Given the description of an element on the screen output the (x, y) to click on. 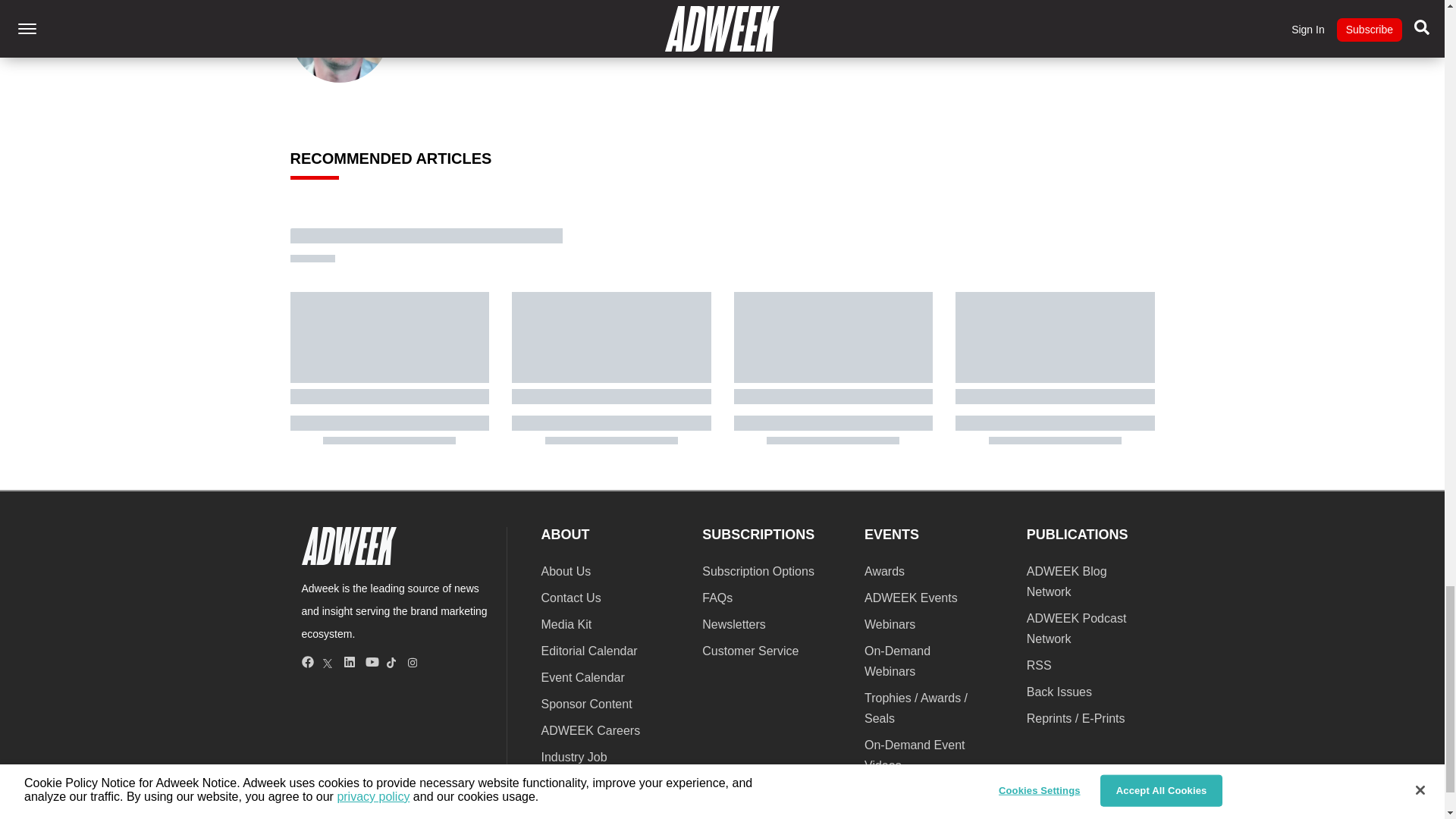
TIM NUDD (459, 1)
